Given the description of an element on the screen output the (x, y) to click on. 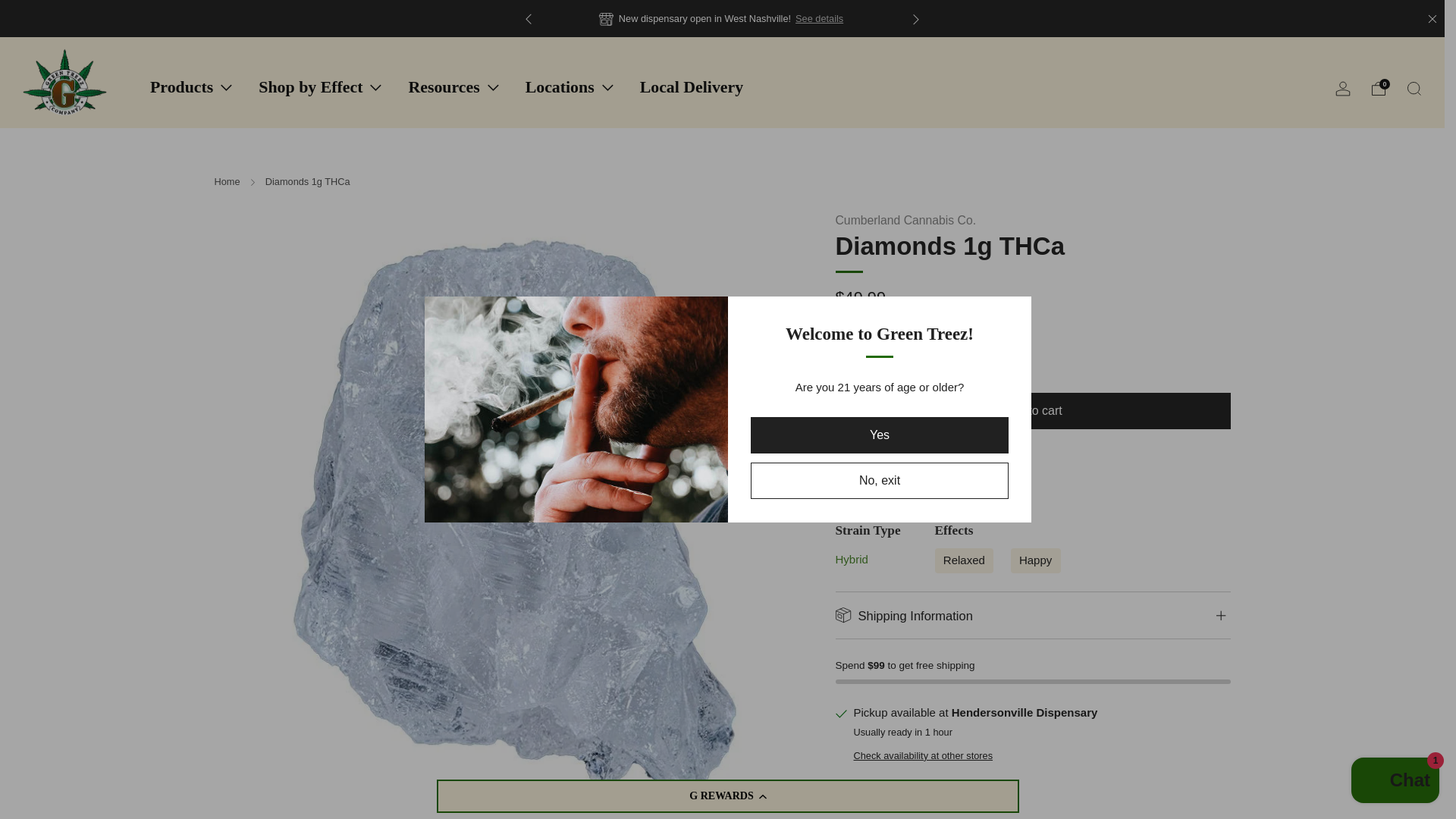
Resources (452, 86)
See details (818, 18)
Yes (880, 434)
Home (227, 181)
No, exit (880, 480)
Shop by Effect (319, 86)
Cumberland Cannabis Co. (905, 219)
Learn more (1167, 18)
1 (872, 362)
Products (190, 86)
